Given the description of an element on the screen output the (x, y) to click on. 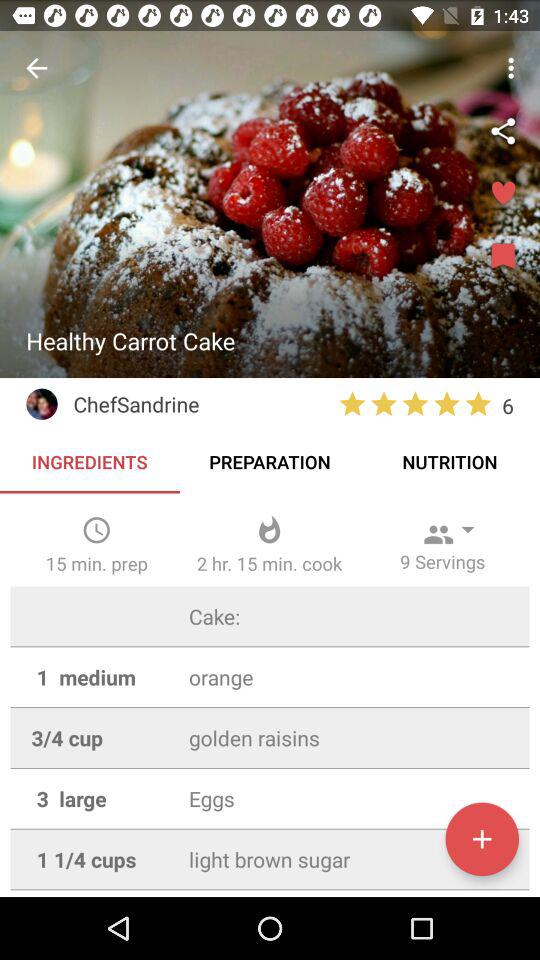
bookmark recipe (503, 257)
